Given the description of an element on the screen output the (x, y) to click on. 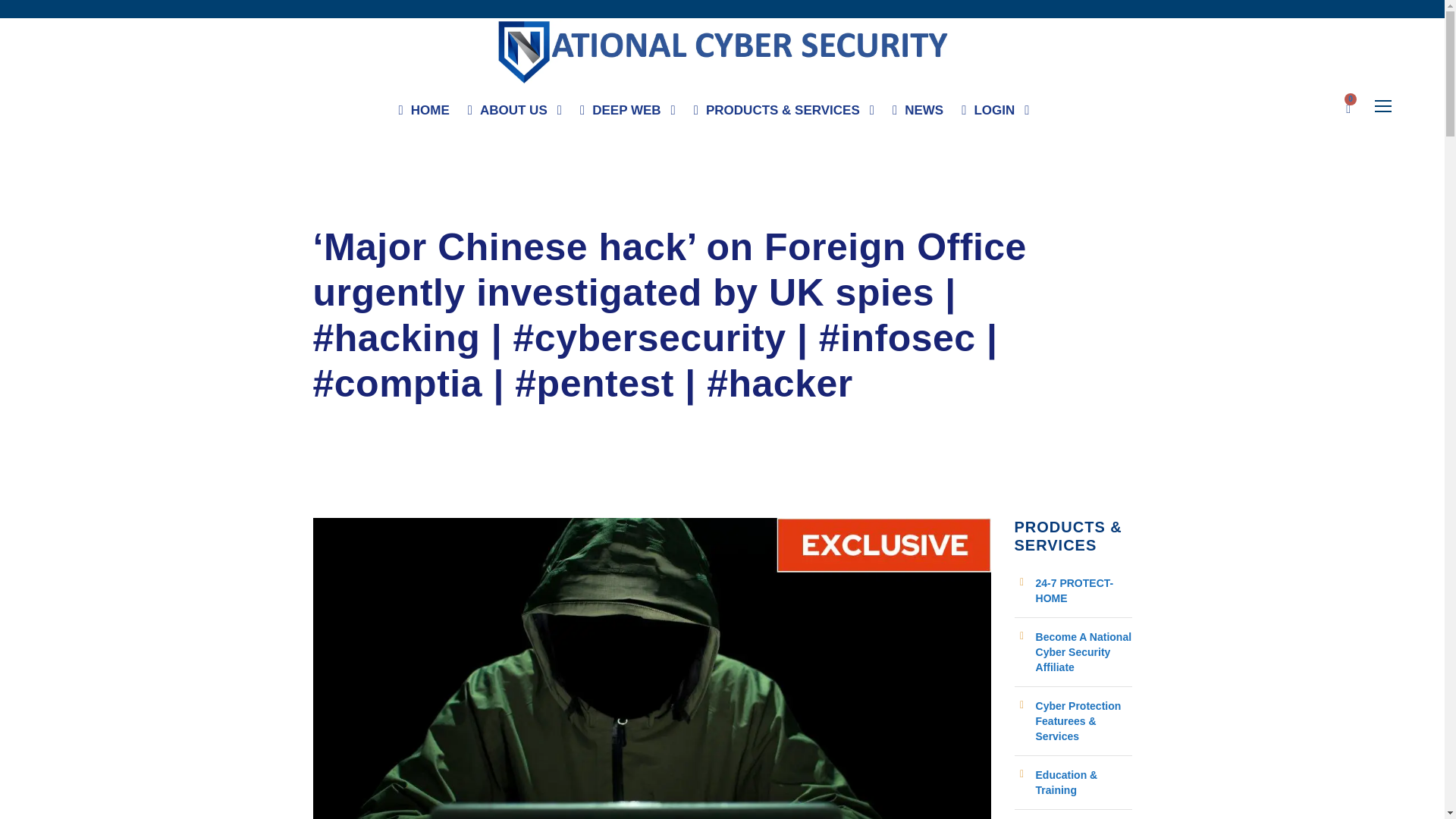
Posts by Natioinal Cyber Security Training Academy Corp (443, 211)
ABOUT US (514, 114)
DEEP WEB (627, 114)
HOME (423, 114)
